Given the description of an element on the screen output the (x, y) to click on. 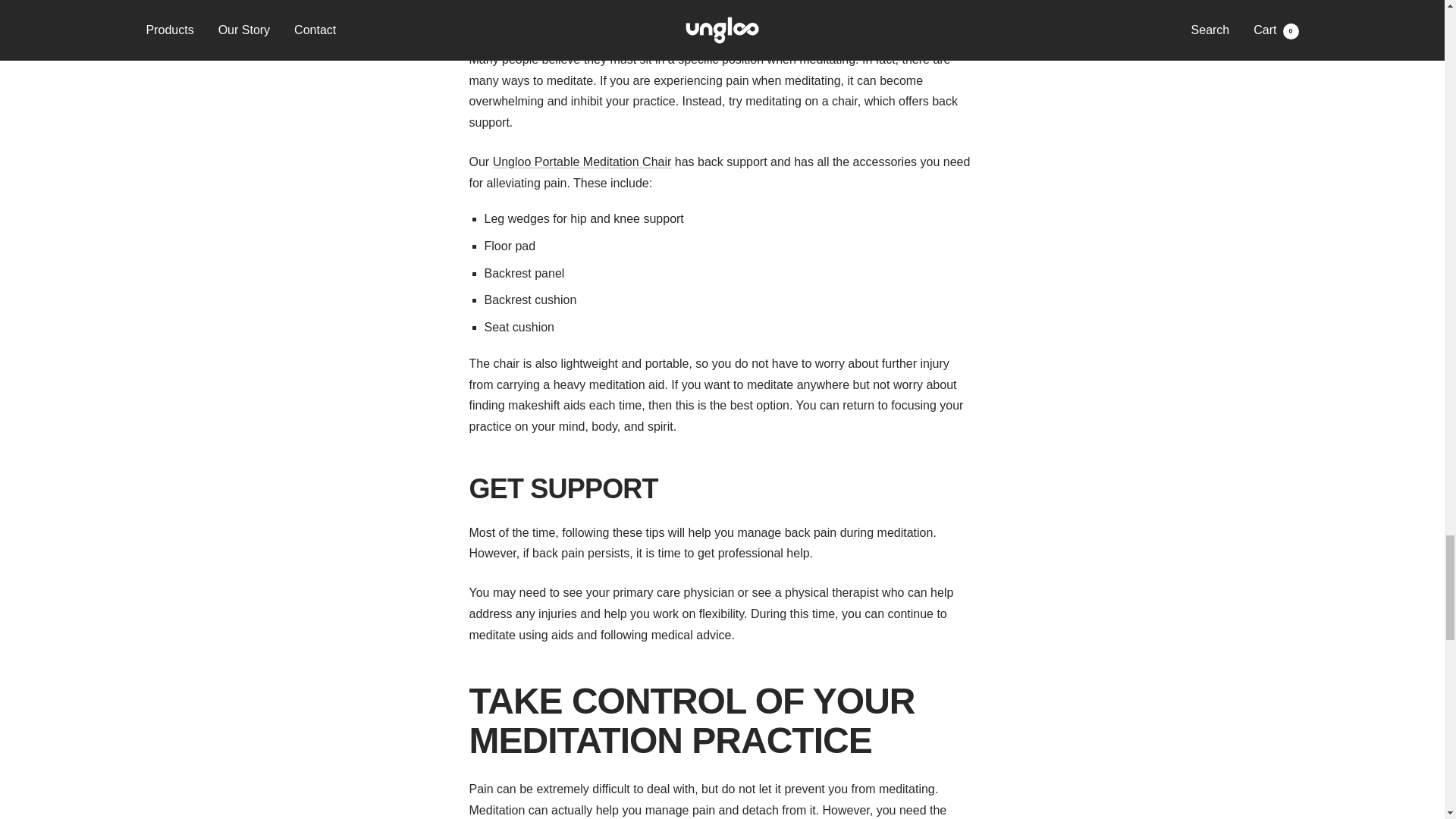
Ungloo Portable Meditation Chair (582, 161)
